Given the description of an element on the screen output the (x, y) to click on. 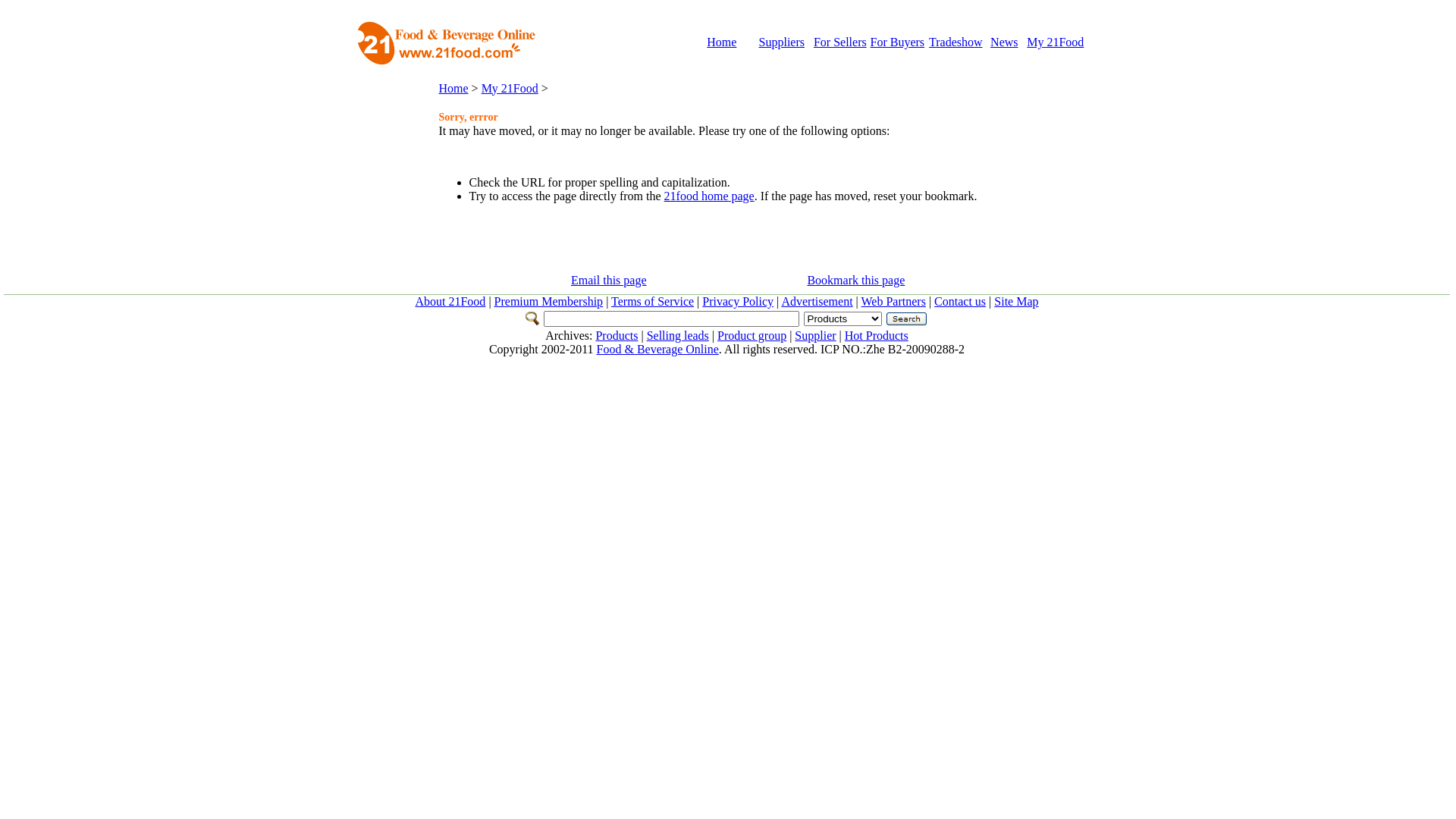
Home Element type: text (721, 41)
About 21Food Element type: text (449, 300)
My 21Food Element type: text (509, 87)
Privacy Policy Element type: text (737, 300)
21food home page Element type: text (709, 195)
Selling leads Element type: text (677, 335)
Food & Beverage Online Element type: text (657, 348)
Suppliers Element type: text (781, 41)
Products Element type: text (616, 335)
Advertisement Element type: text (816, 300)
Home Element type: text (452, 87)
Hot Products Element type: text (876, 335)
Premium Membership Element type: text (548, 300)
My 21Food Element type: text (1054, 41)
Web Partners Element type: text (893, 300)
Bookmark this page Element type: text (855, 279)
Site Map Element type: text (1016, 300)
Product group Element type: text (751, 335)
For Sellers Element type: text (839, 41)
Terms of Service Element type: text (652, 300)
Email this page Element type: text (608, 279)
Supplier Element type: text (814, 335)
For Buyers Element type: text (897, 41)
News Element type: text (1003, 41)
Contact us Element type: text (959, 300)
Tradeshow Element type: text (955, 41)
